Given the description of an element on the screen output the (x, y) to click on. 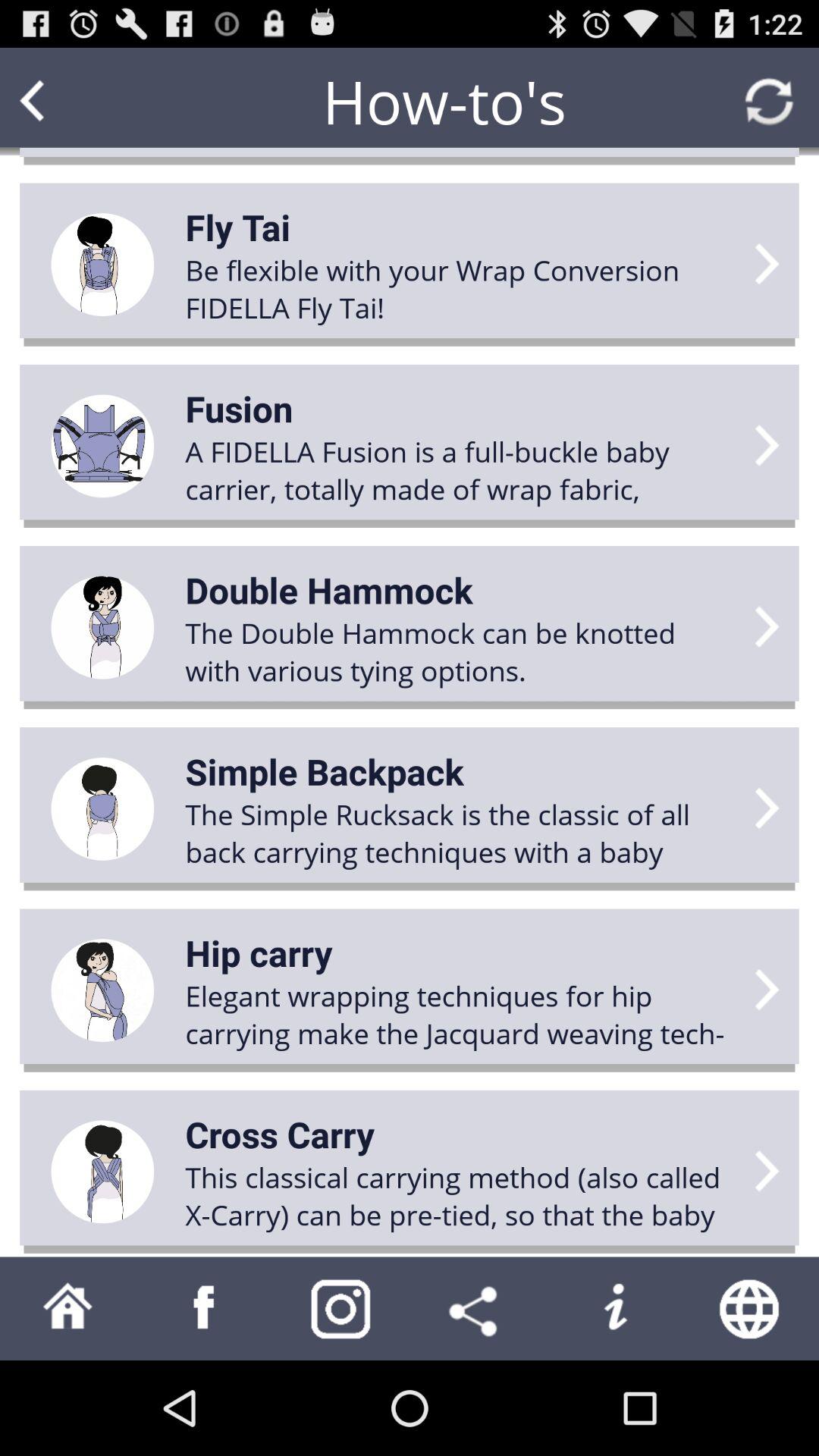
go back (61, 101)
